Given the description of an element on the screen output the (x, y) to click on. 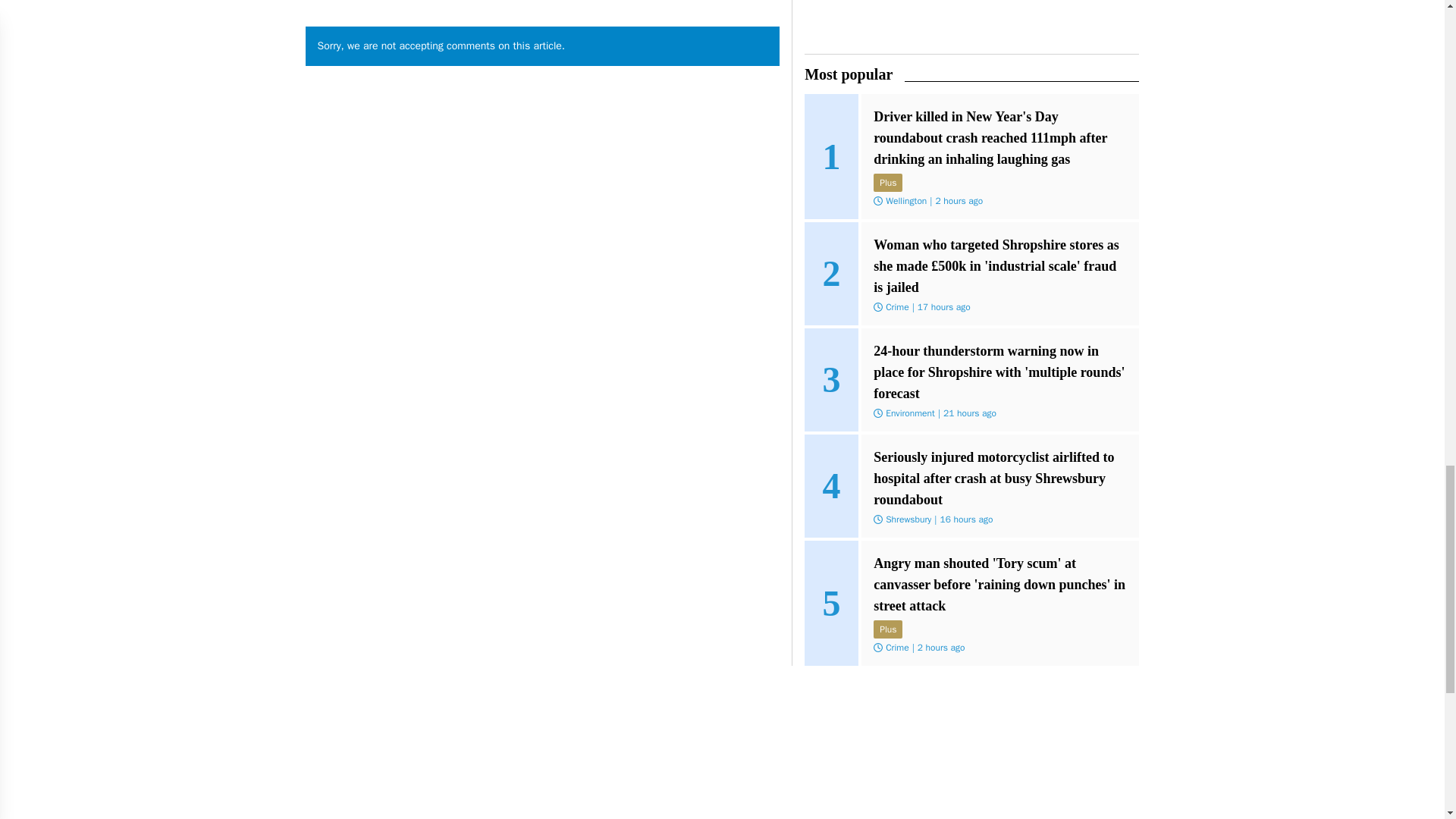
Environment (909, 413)
Shrewsbury (908, 519)
Crime (896, 306)
Wellington (905, 200)
Crime (896, 647)
